Given the description of an element on the screen output the (x, y) to click on. 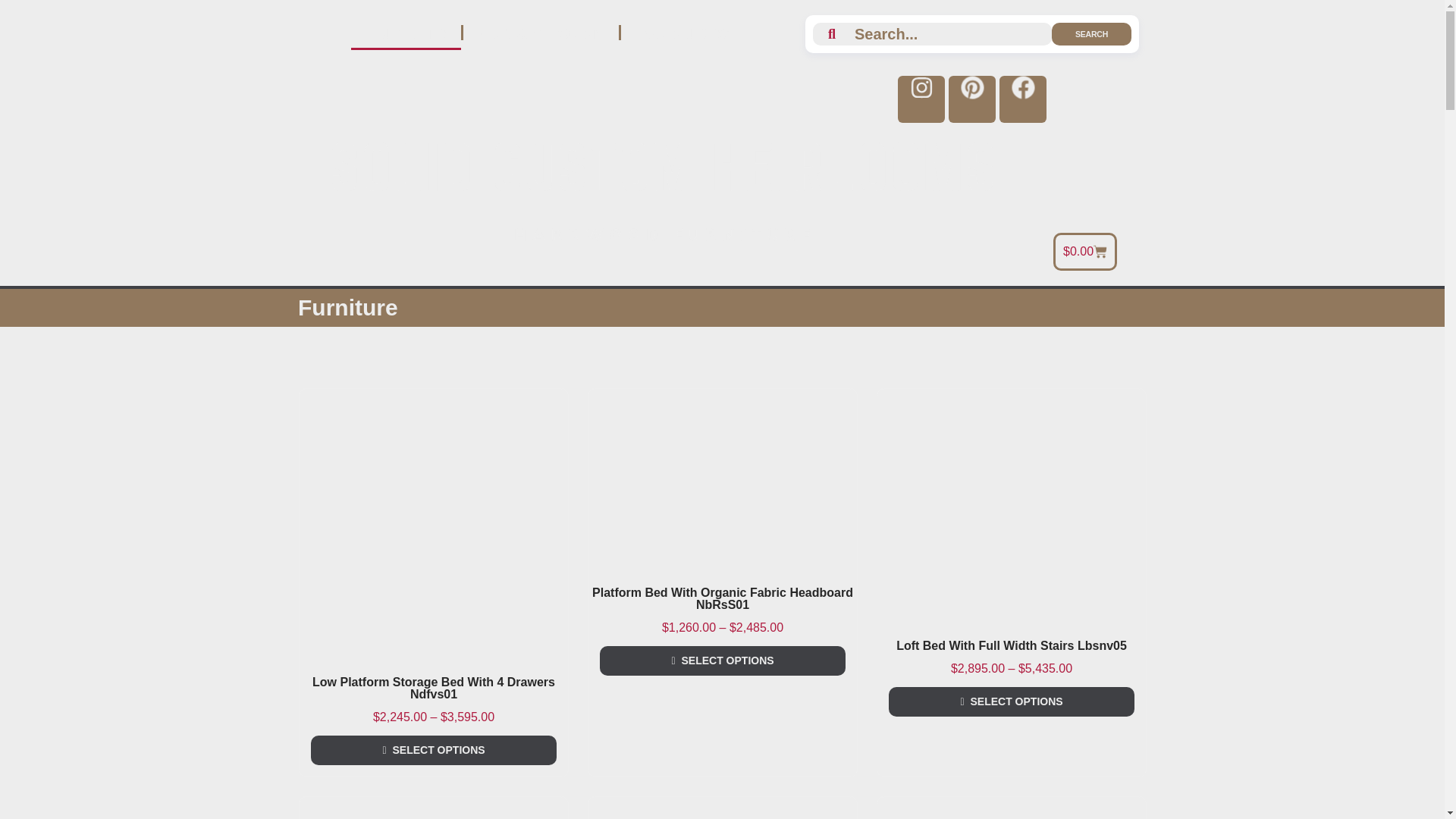
Customization (540, 32)
Resources (682, 32)
Furniture (405, 32)
